Given the description of an element on the screen output the (x, y) to click on. 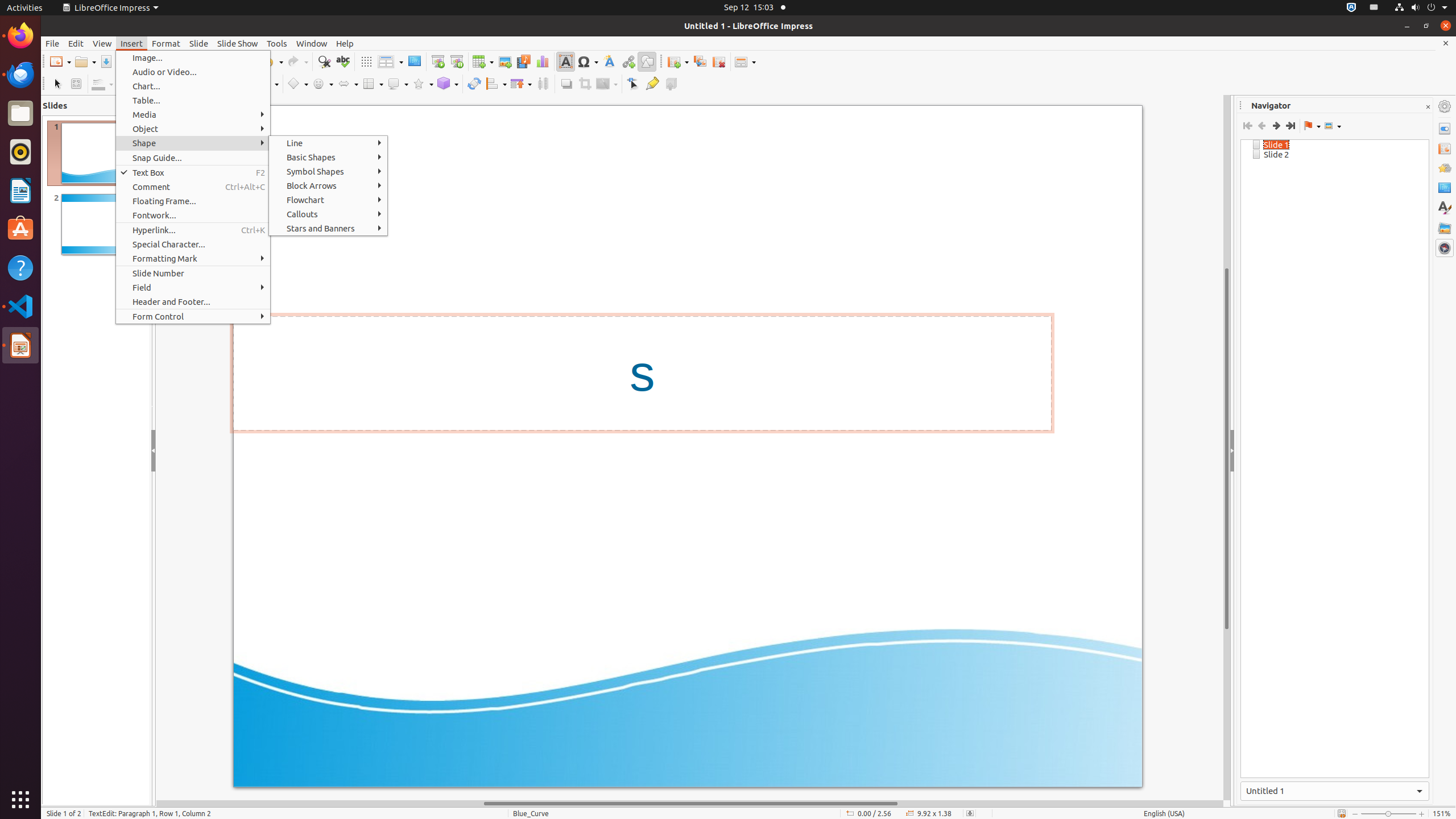
Line Element type: menu (328, 142)
Tools Element type: menu (276, 43)
